Given the description of an element on the screen output the (x, y) to click on. 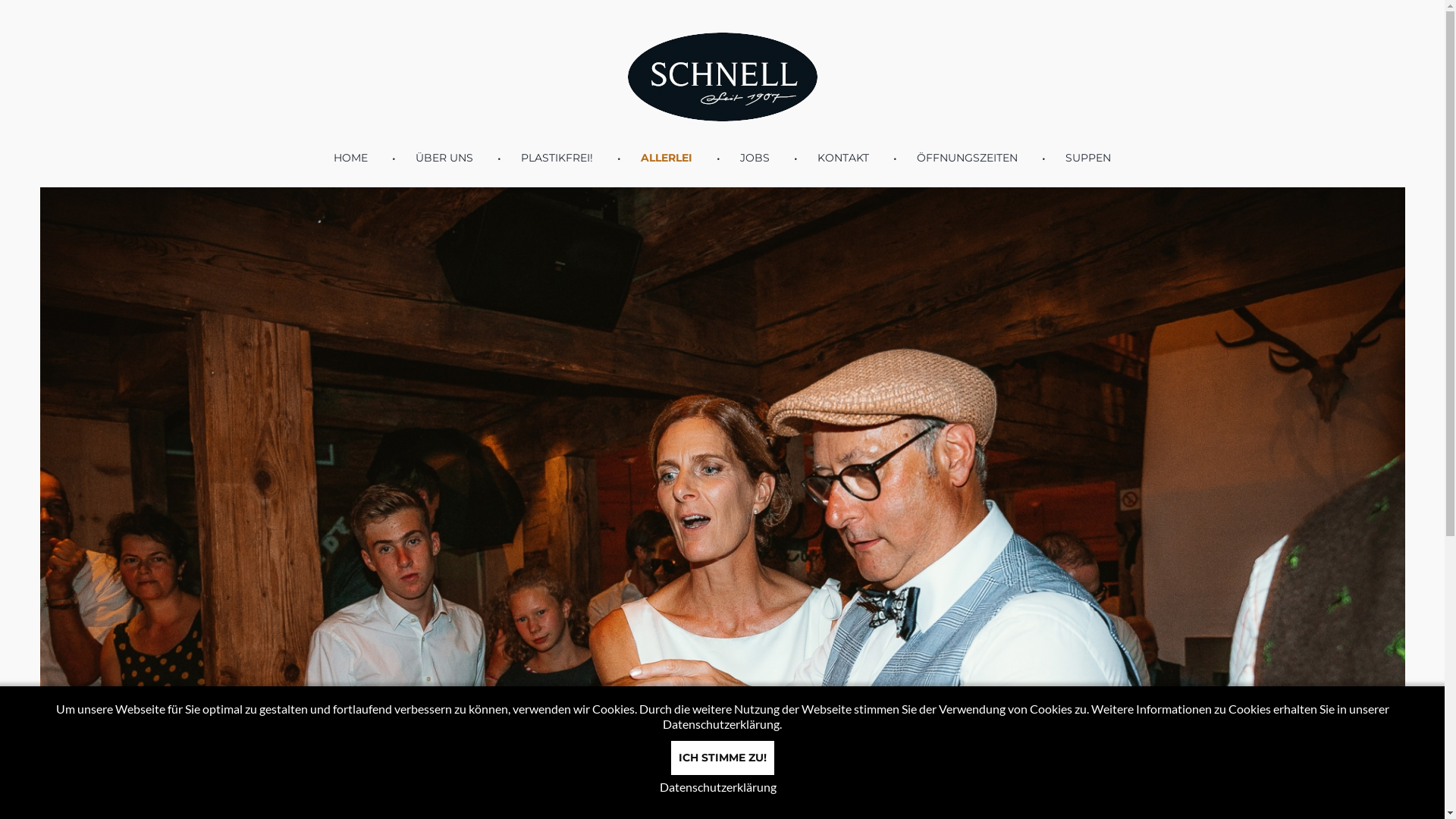
SUPPEN Element type: text (1087, 157)
PLASTIKFREI! Element type: text (556, 157)
ICH STIMME ZU! Element type: text (721, 757)
KONTAKT Element type: text (843, 157)
HOME Element type: text (350, 157)
ALLERLEI Element type: text (666, 157)
JOBS Element type: text (754, 157)
